Given the description of an element on the screen output the (x, y) to click on. 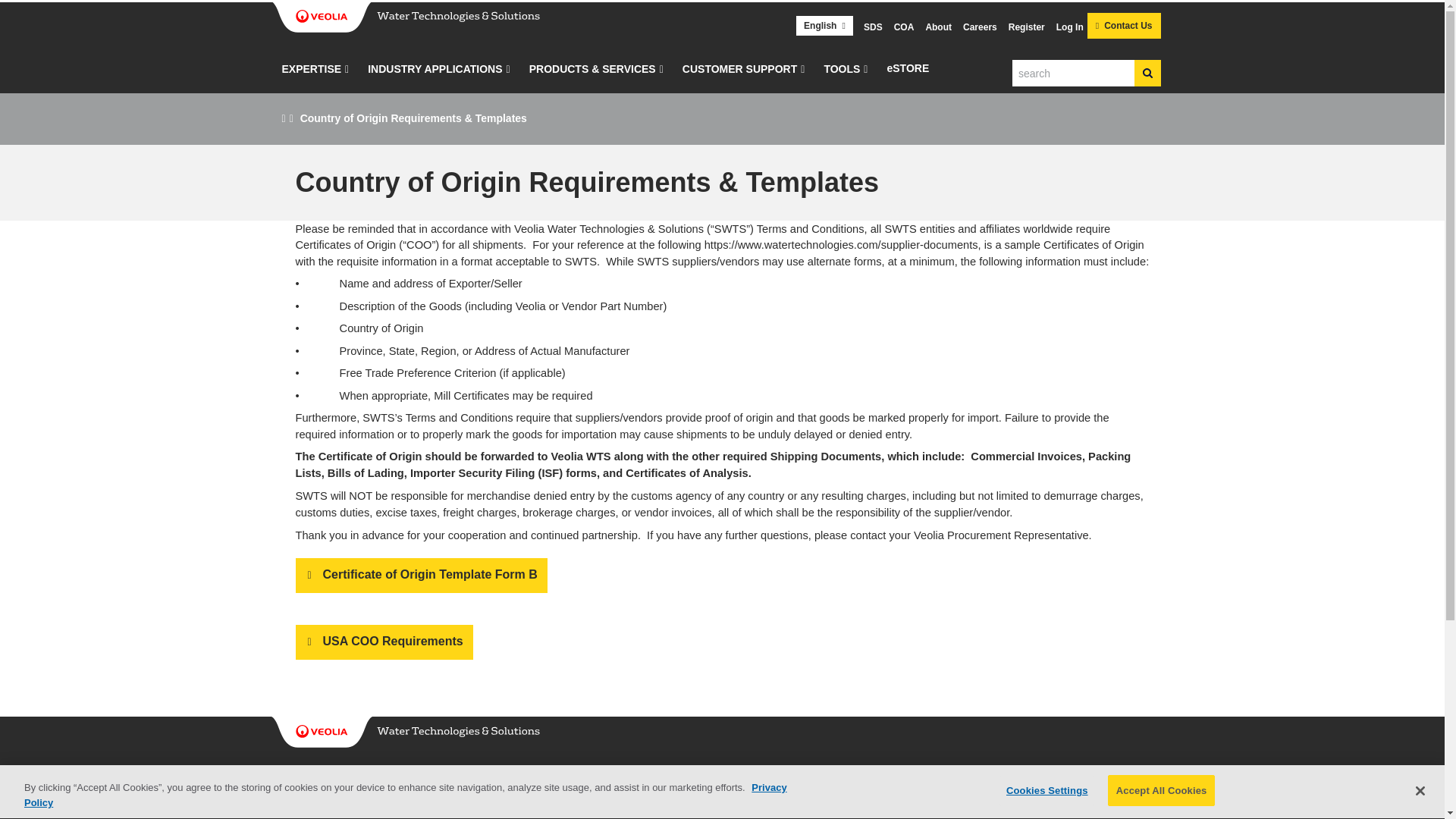
Industry Application (435, 77)
Enter the terms you wish to search for. (1072, 72)
Tools (842, 77)
EXPERTISE (312, 77)
INDUSTRY APPLICATIONS (435, 77)
Customer Support (739, 77)
Expertise (312, 77)
Search (1147, 72)
English (824, 25)
Log In (1067, 26)
